Given the description of an element on the screen output the (x, y) to click on. 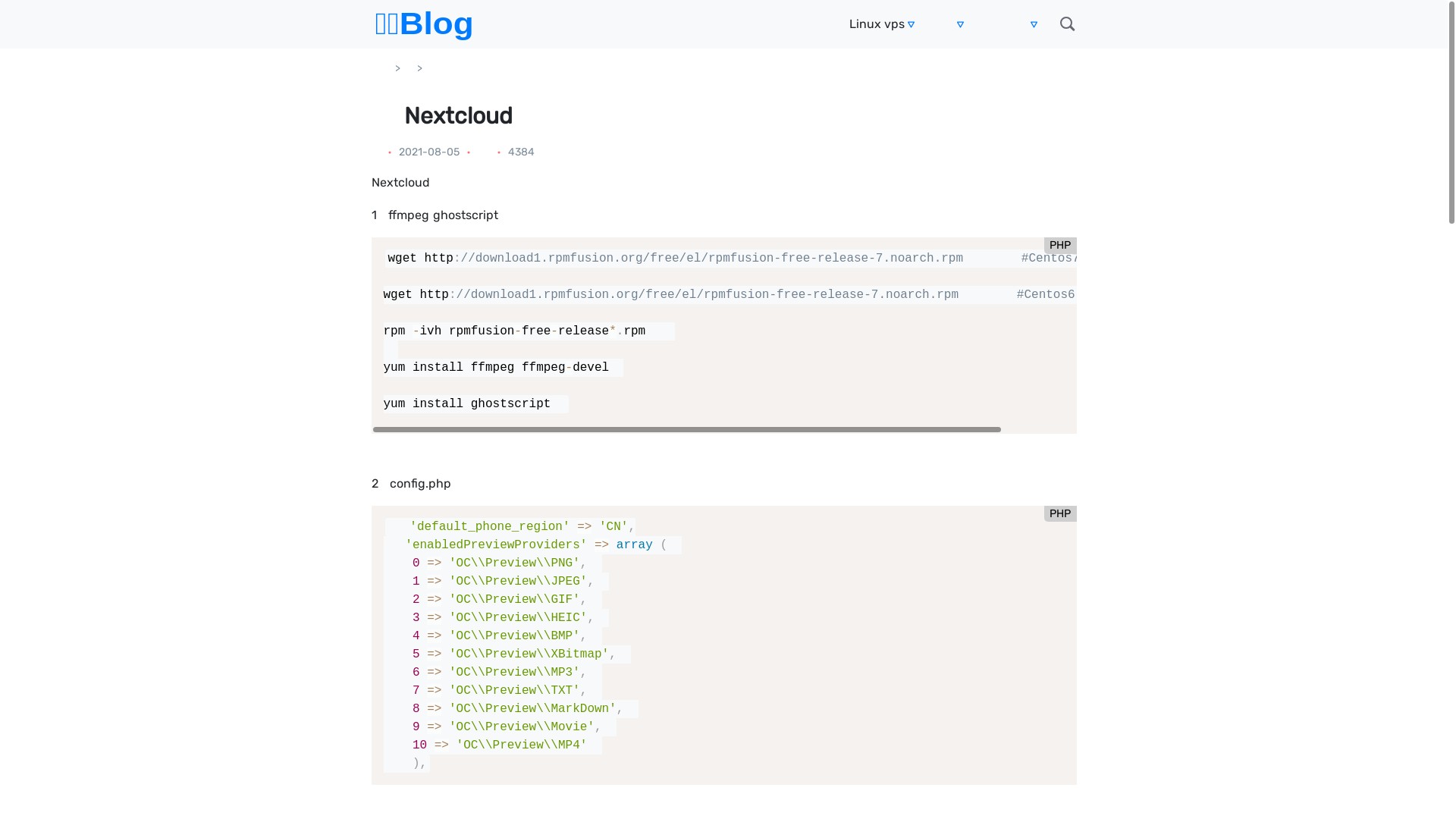
Linux vps Element type: text (876, 23)
